Given the description of an element on the screen output the (x, y) to click on. 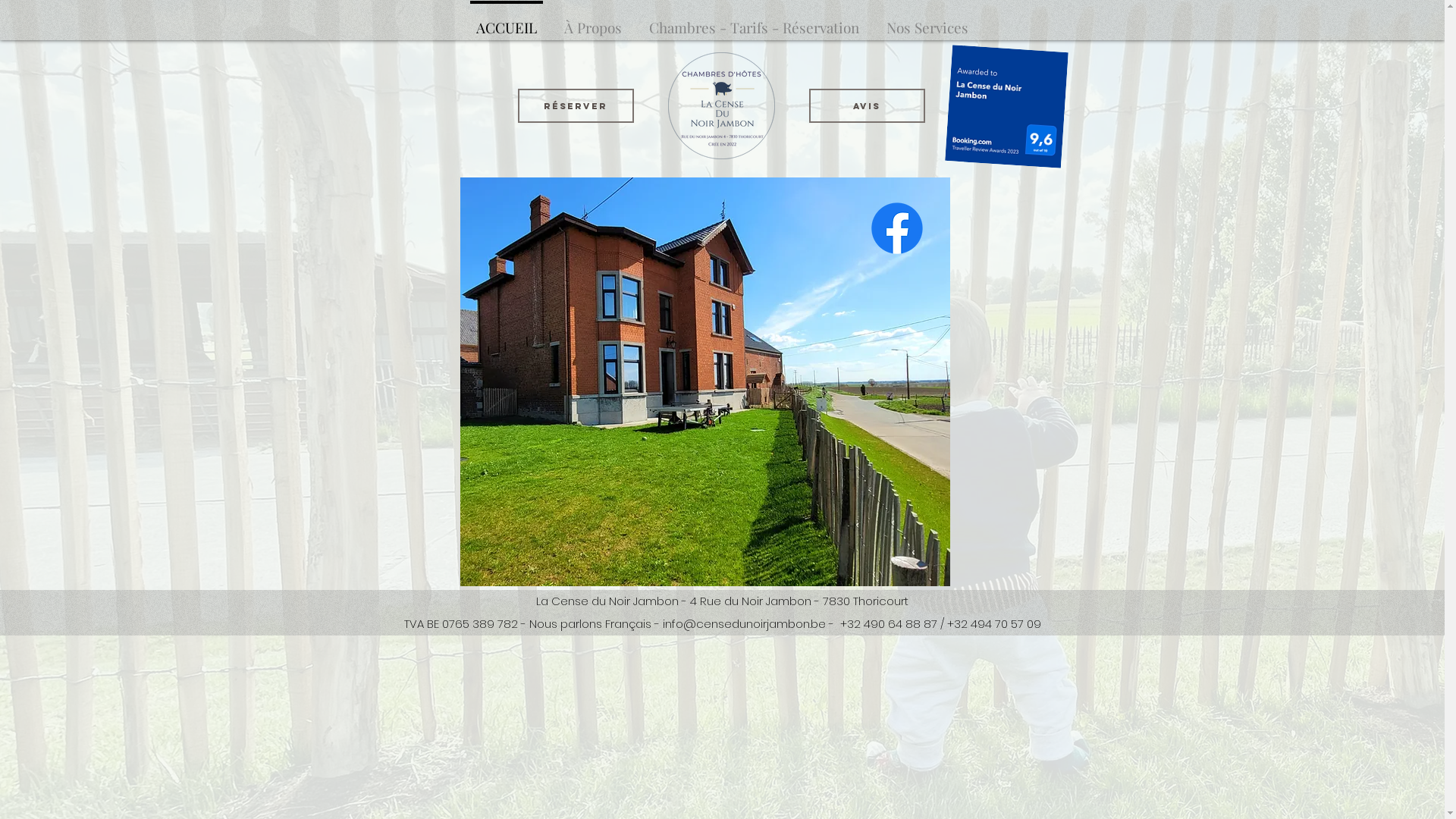
Avis Element type: text (866, 105)
ACCUEIL Element type: text (506, 20)
info@censedunoirjambon.be Element type: text (743, 623)
Nos Services Element type: text (927, 20)
